Given the description of an element on the screen output the (x, y) to click on. 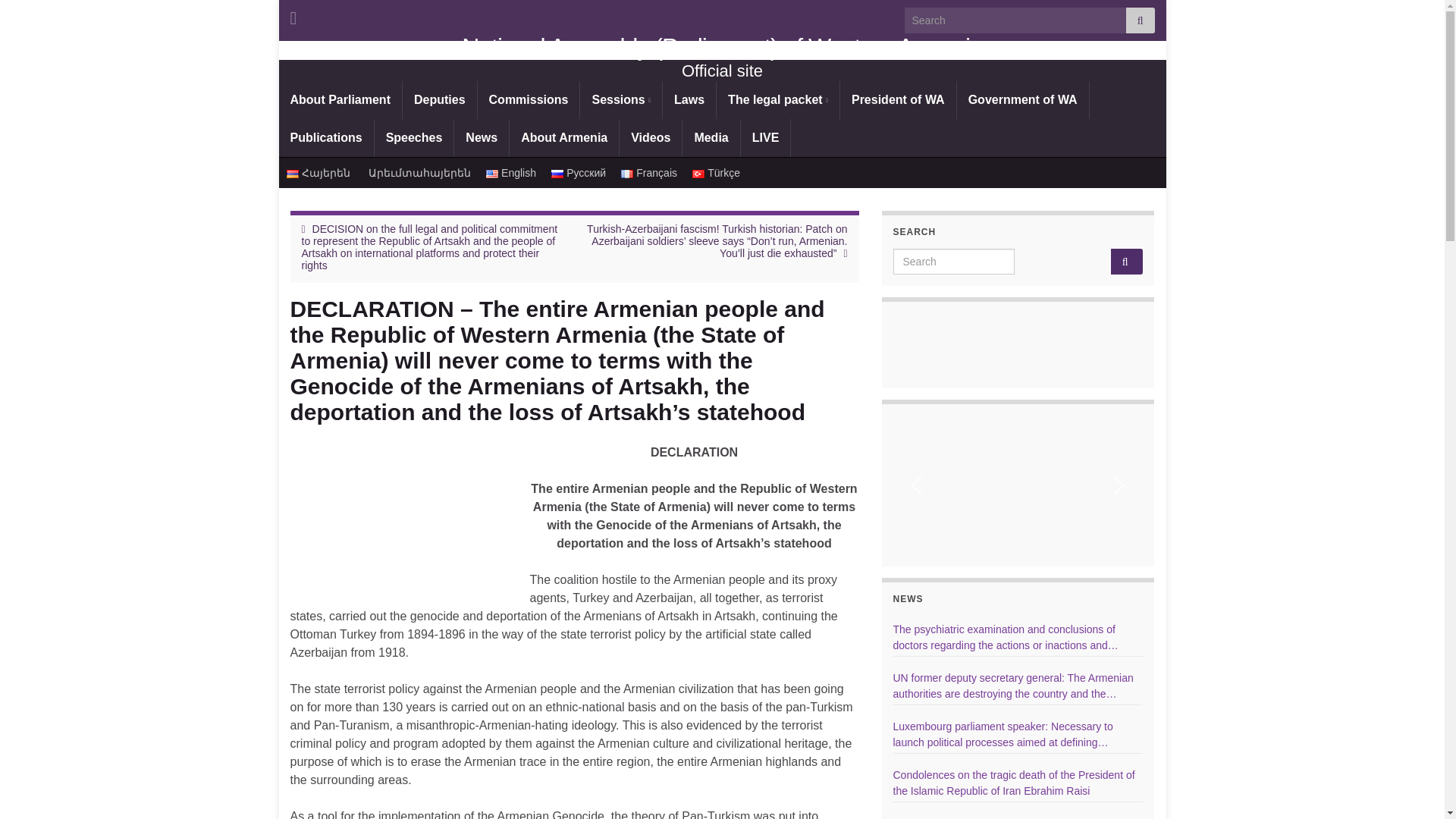
Videos (650, 137)
About Armenia (563, 137)
Government of WA (1022, 99)
LIVE (765, 137)
Deputies (440, 99)
About Parliament (340, 99)
English (511, 173)
Media (710, 137)
Laws (689, 99)
Go back to the front page (721, 46)
President of WA (898, 99)
Publications (326, 137)
Sessions (620, 99)
News (481, 137)
Commissions (528, 99)
